Given the description of an element on the screen output the (x, y) to click on. 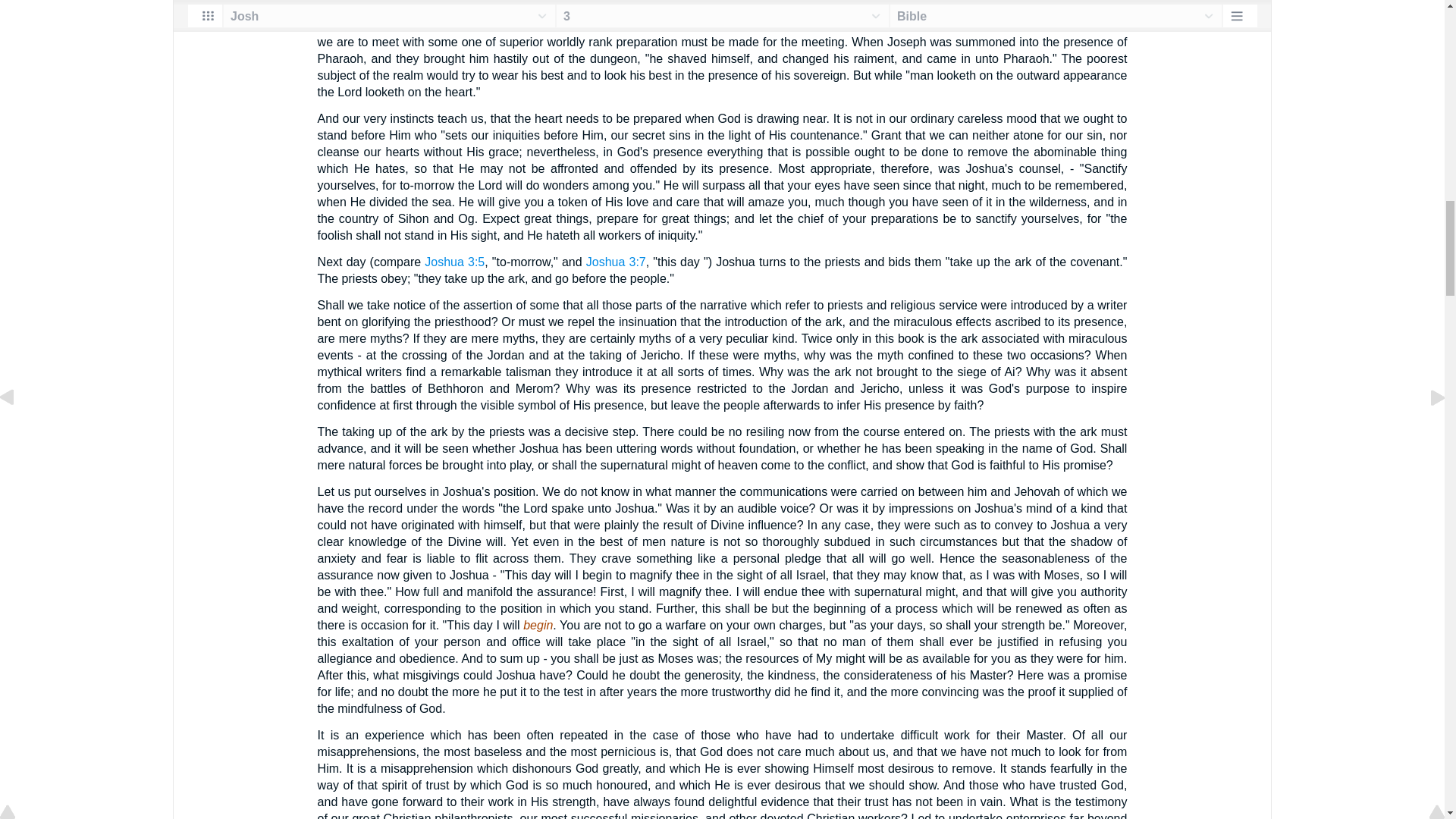
Joshua 3:5 (454, 261)
Joshua 3:7 (616, 261)
